Given the description of an element on the screen output the (x, y) to click on. 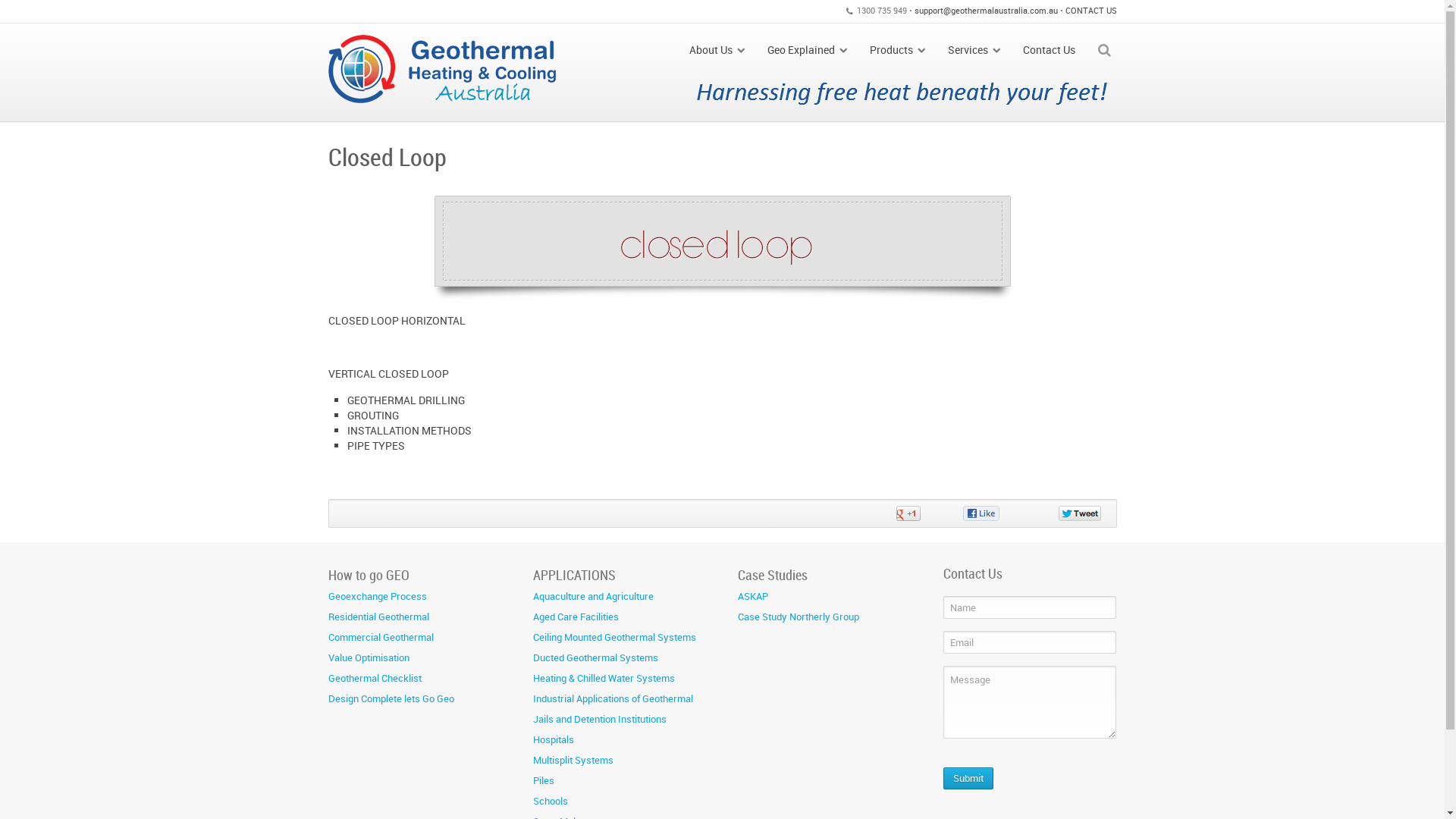
Ducted Geothermal Systems Element type: text (595, 657)
Share on Twitter Element type: text (1059, 512)
Case Study Northerly Group Element type: text (798, 616)
Value Optimisation Element type: text (367, 657)
Heating & Chilled Water Systems Element type: text (603, 677)
CONTACT US Element type: text (1090, 9)
Aged Care Facilities Element type: text (575, 616)
ASKAP Element type: text (752, 595)
Jails and Detention Institutions Element type: text (599, 718)
Design Complete lets Go Geo Element type: text (390, 698)
Services Element type: text (972, 49)
Commercial Geothermal Element type: text (380, 636)
Hospitals Element type: text (553, 739)
Search Element type: text (26, 11)
Products Element type: text (897, 49)
Industrial Applications of Geothermal Element type: text (613, 698)
Contact Us Element type: text (1048, 49)
Residential Geothermal Element type: text (377, 616)
Geo Explained Element type: text (806, 49)
Geothermal Checklist Element type: text (373, 677)
About Us Element type: text (716, 49)
Geoexchange Process Element type: text (376, 595)
Ceiling Mounted Geothermal Systems Element type: text (614, 636)
Piles Element type: text (543, 780)
Schools Element type: text (550, 800)
Share on Facebook Element type: text (991, 512)
Multisplit Systems Element type: text (573, 759)
Aquaculture and Agriculture Element type: text (593, 595)
Submit Element type: text (968, 778)
Share on Google+ Element type: text (929, 512)
support@geothermalaustralia.com.au Element type: text (985, 9)
